Given the description of an element on the screen output the (x, y) to click on. 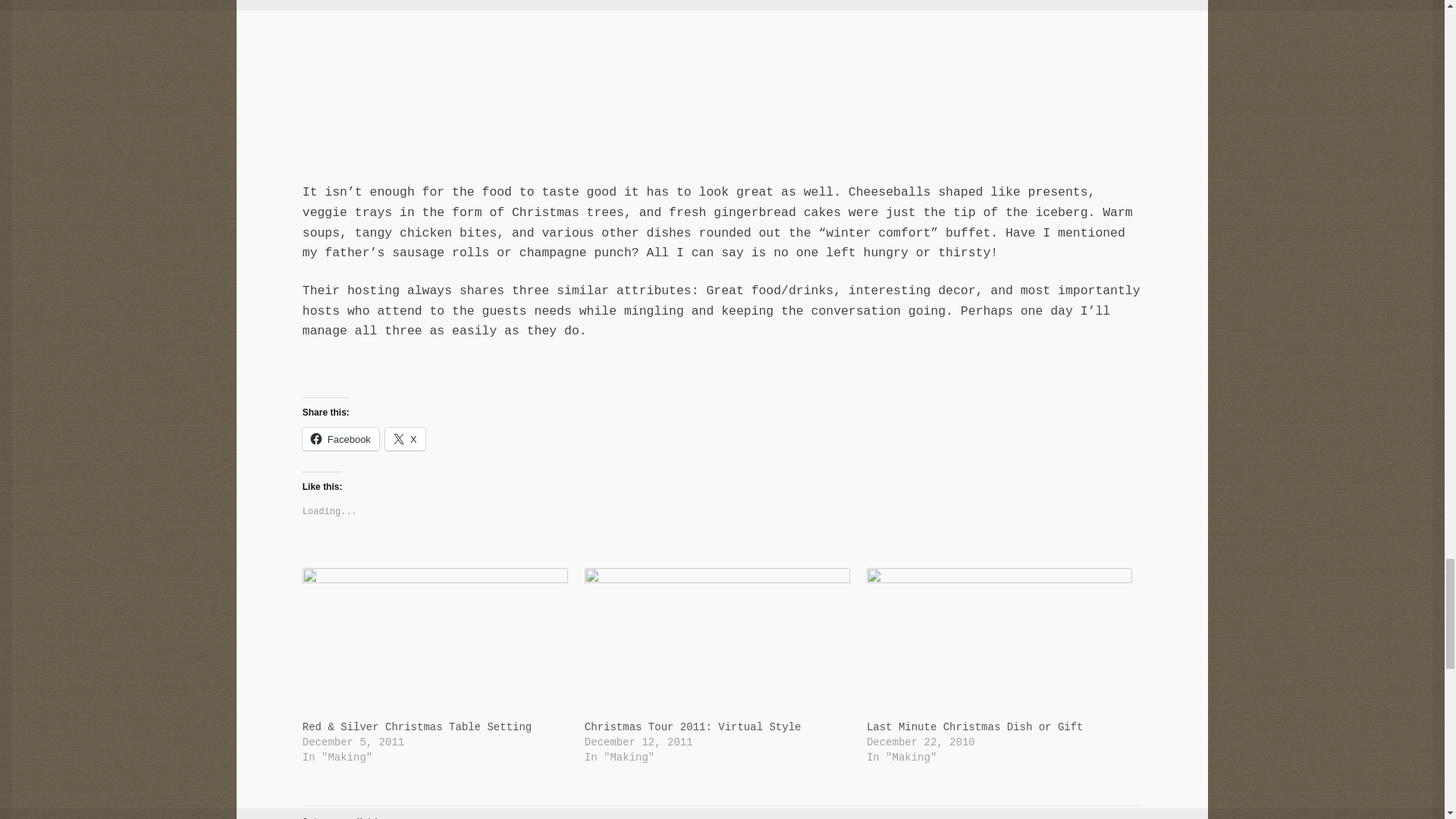
Christmas Tour 2011: Virtual Style (718, 643)
Click to share on Facebook (340, 438)
Christmas Tour 2011: Virtual Style (693, 727)
Click to share on X (405, 438)
cheeseball-present (722, 82)
Last Minute Christmas Dish or Gift (1000, 643)
